Given the description of an element on the screen output the (x, y) to click on. 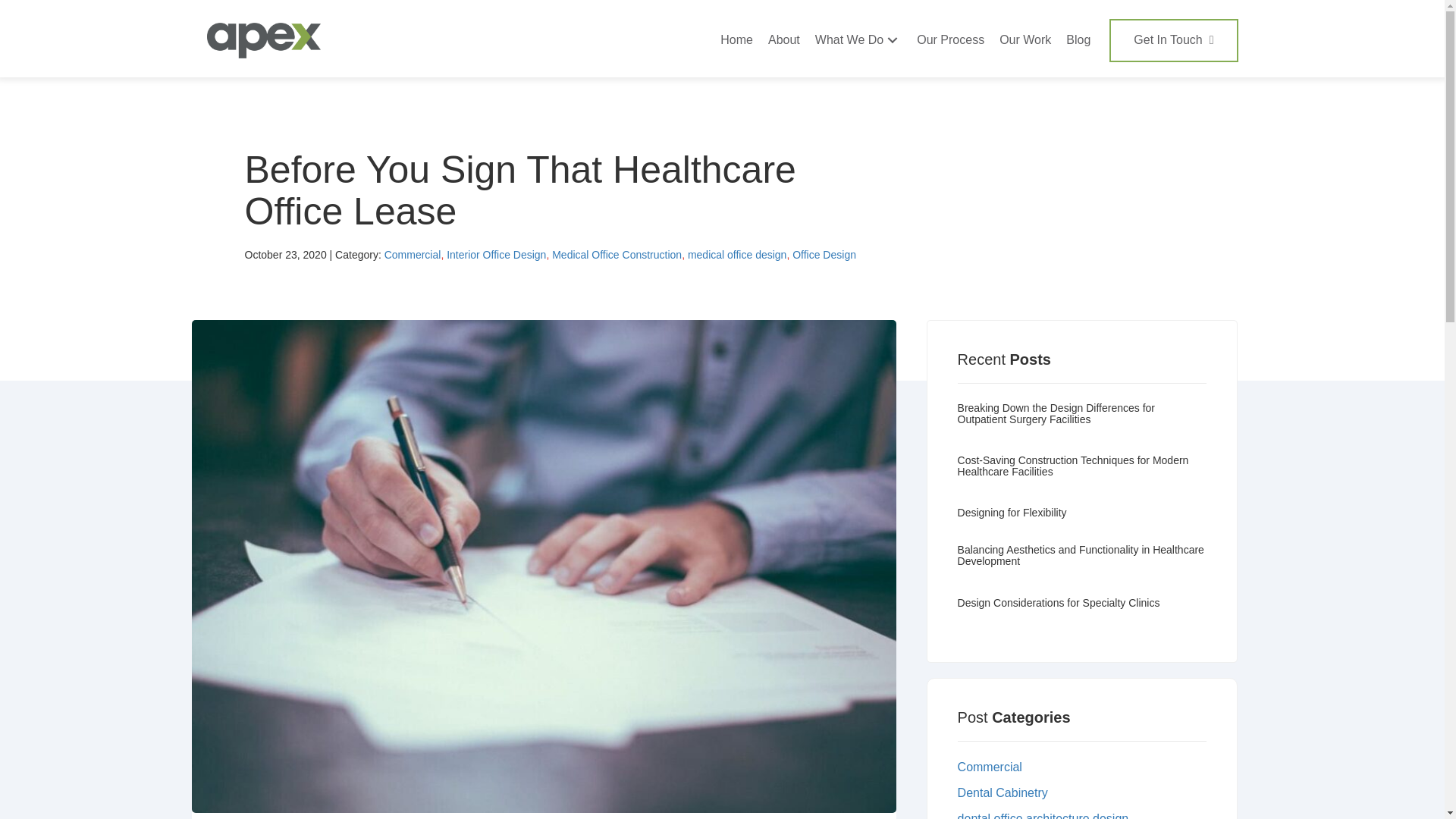
Design Considerations for Specialty Clinics (1082, 610)
Get In Touch   (1173, 40)
Our Process (949, 40)
Home (736, 40)
Dental Cabinetry (1082, 793)
Interior Office Design (496, 254)
Office Design (824, 254)
Designing for Flexibility (1082, 520)
Commercial (1082, 766)
dental office architecture design (1082, 815)
Blog (1077, 40)
Medical Office Construction (616, 254)
Commercial (412, 254)
